Given the description of an element on the screen output the (x, y) to click on. 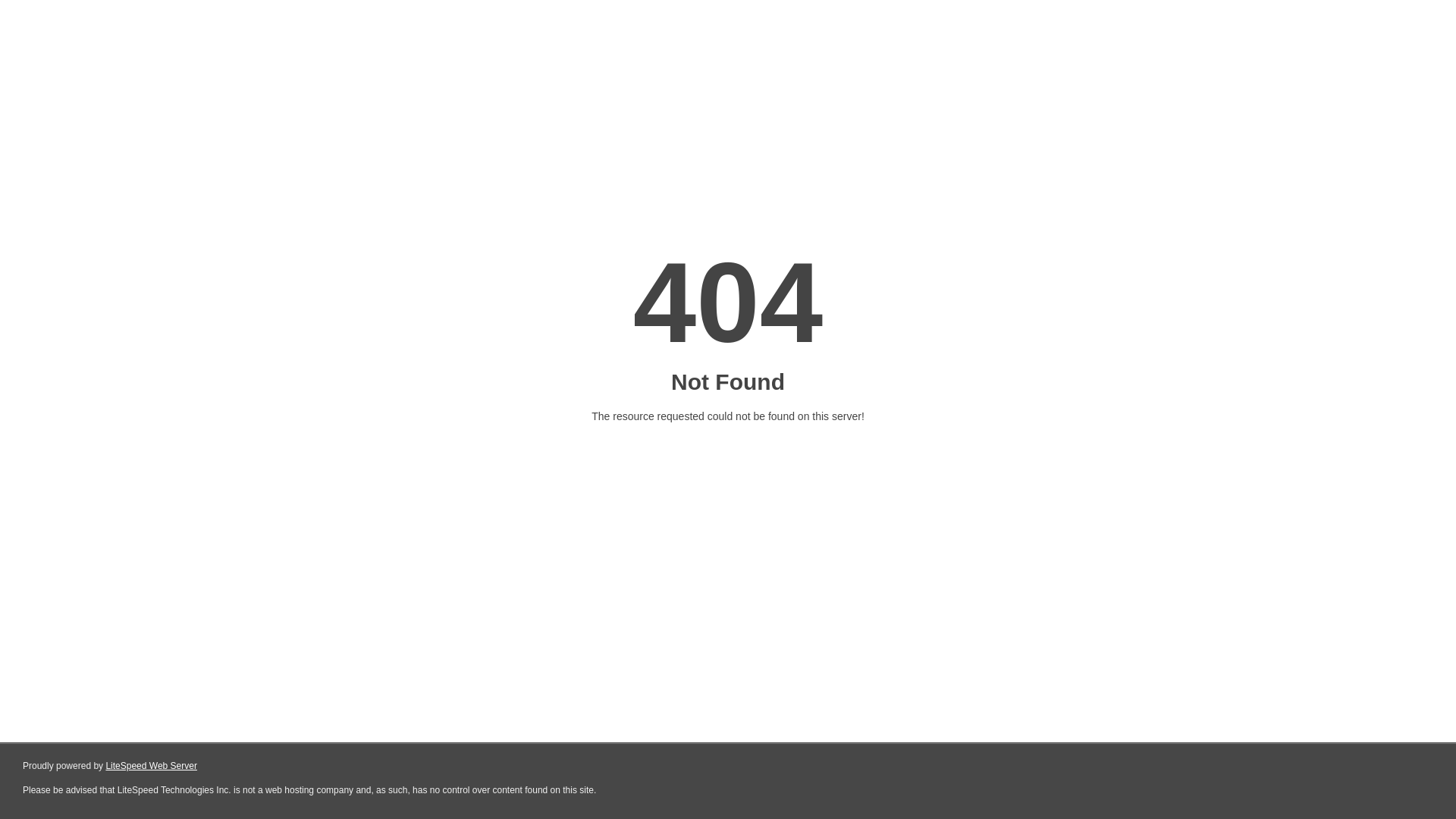
LiteSpeed Web Server Element type: text (151, 765)
